Given the description of an element on the screen output the (x, y) to click on. 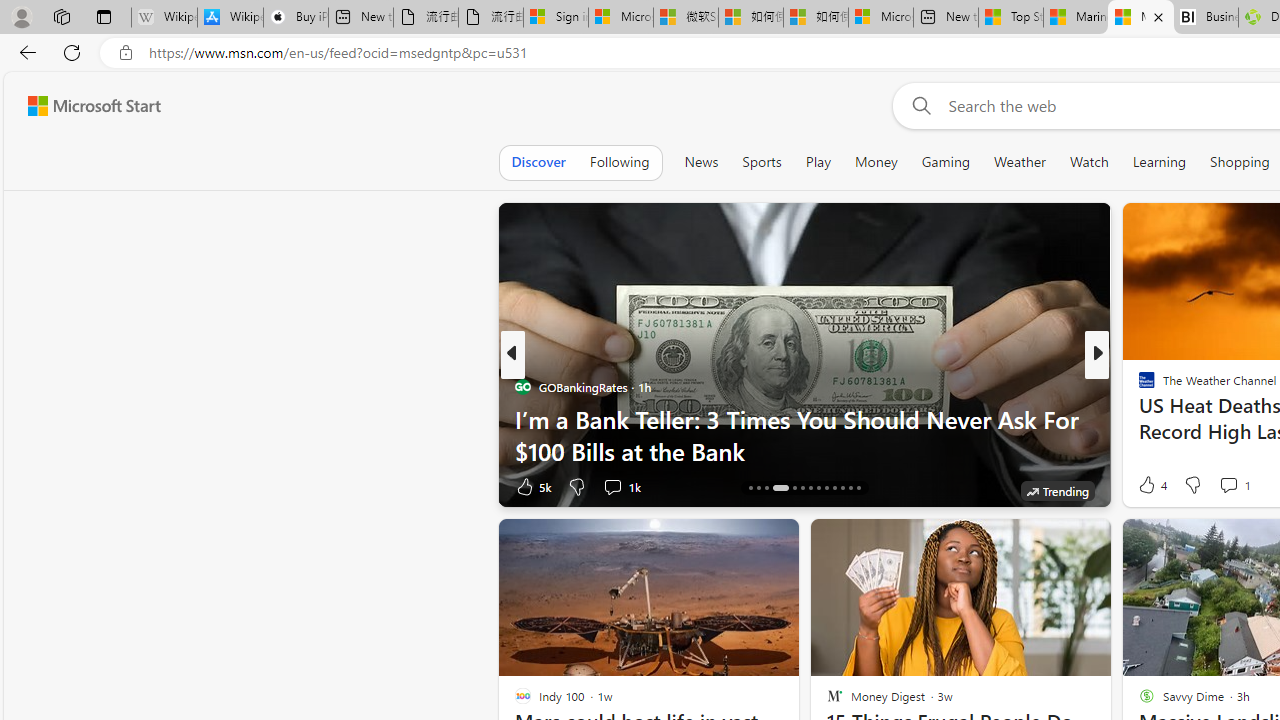
View comments 13 Comment (11, 485)
Top Stories - MSN (1011, 17)
AutomationID: tab-15 (757, 487)
View comments 3 Comment (1234, 485)
The Cool Down (1138, 386)
Weather (1020, 161)
Dislike (1191, 484)
GOBankingRates (522, 386)
AutomationID: tab-25 (850, 487)
MSNBC (1138, 386)
Weather (1019, 162)
View comments 35 Comment (1244, 486)
AutomationID: tab-23 (833, 487)
